Given the description of an element on the screen output the (x, y) to click on. 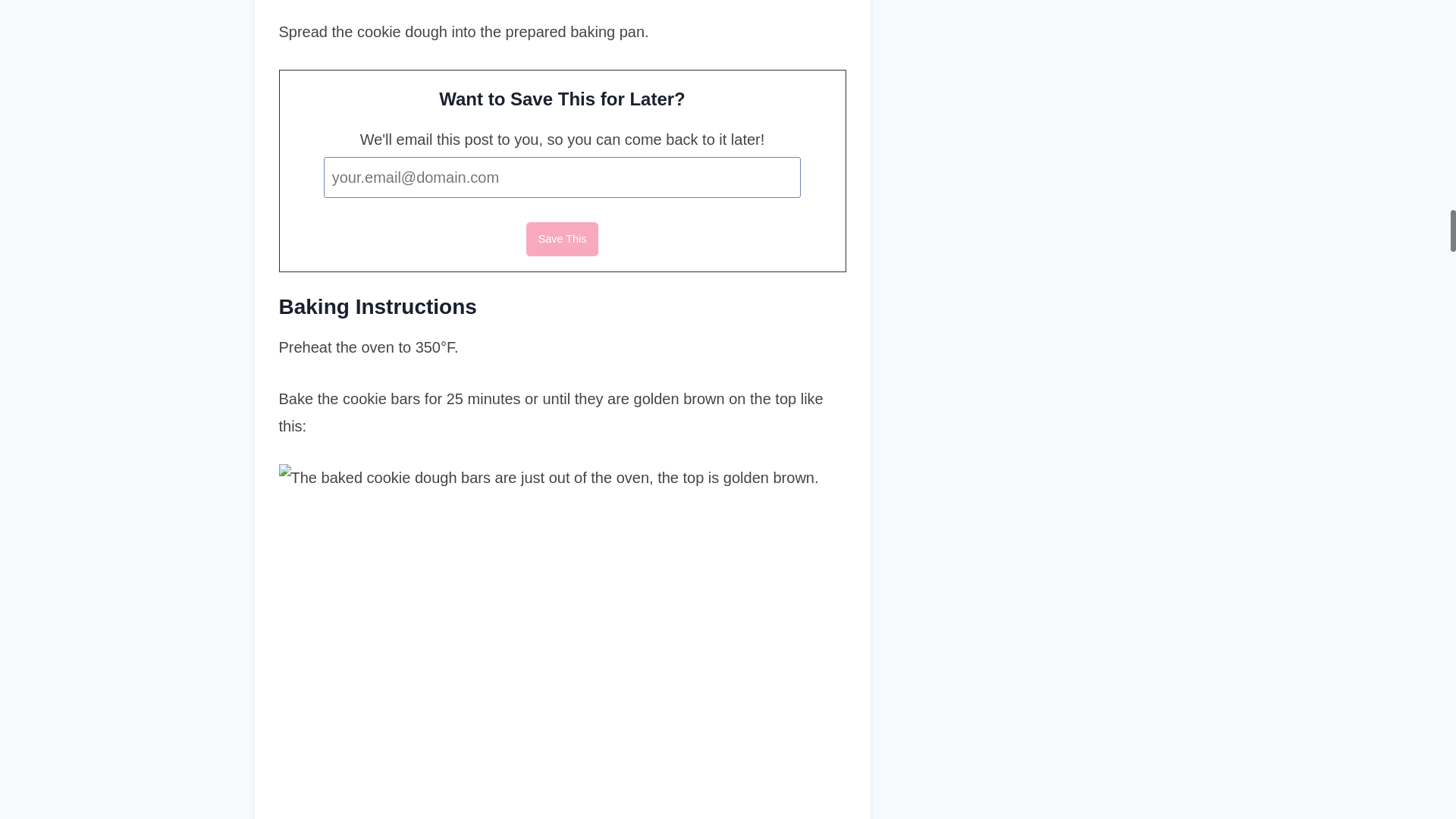
Save This (561, 238)
